Given the description of an element on the screen output the (x, y) to click on. 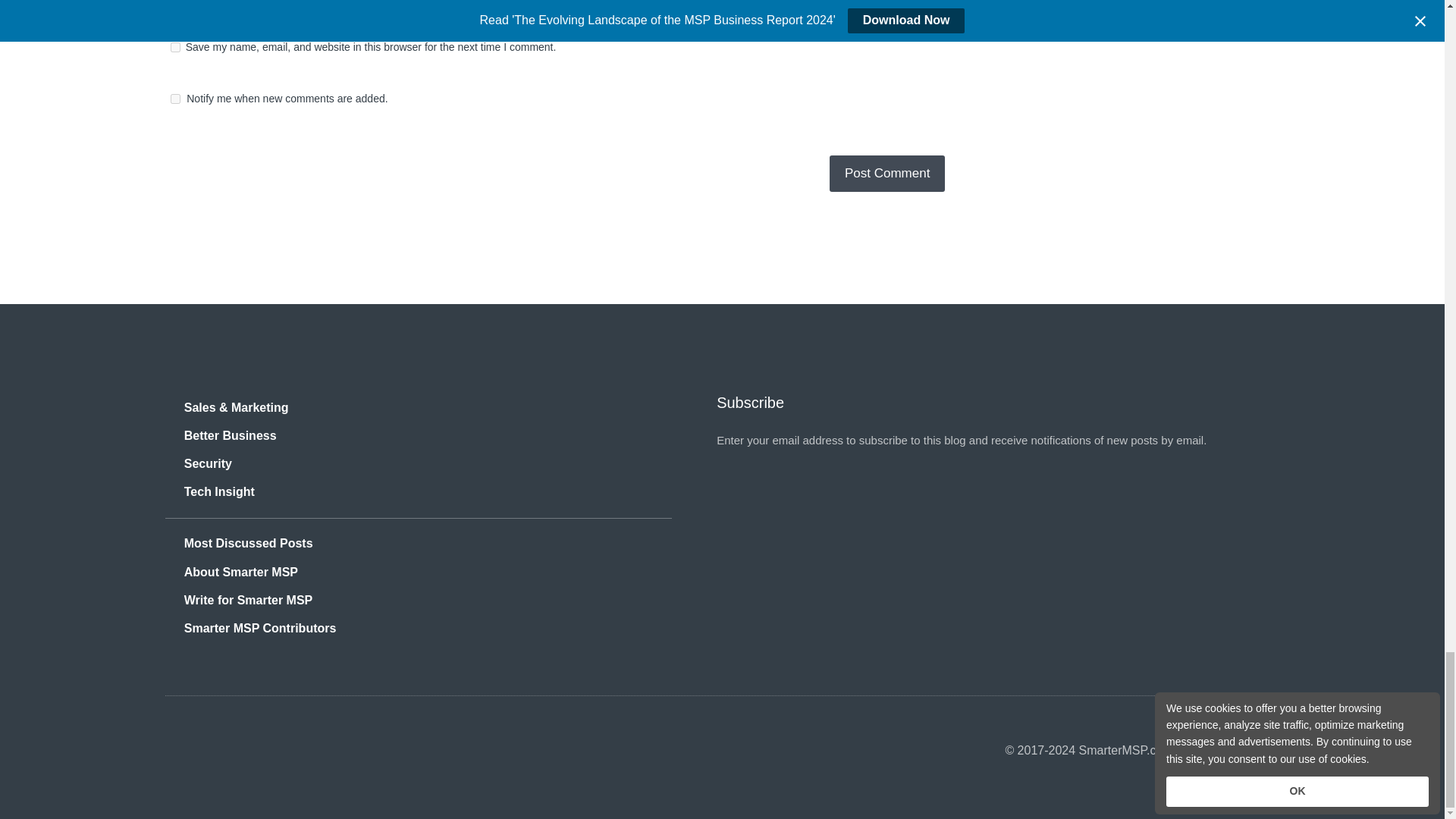
1 (175, 99)
yes (175, 47)
Post Comment (886, 173)
